Given the description of an element on the screen output the (x, y) to click on. 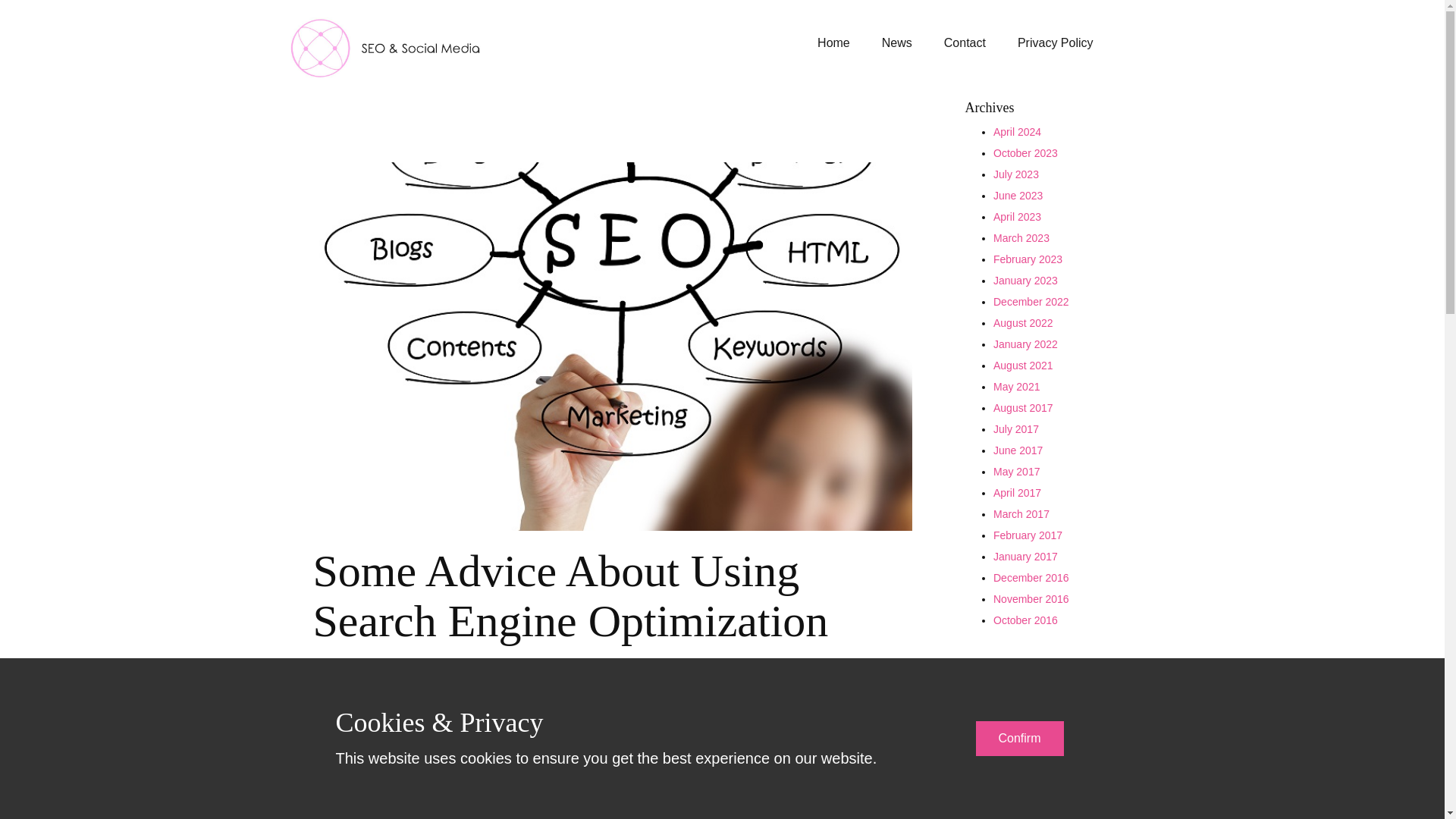
February 2023 (1027, 259)
April 2017 (1016, 492)
January 2023 (1025, 280)
March 2017 (1020, 513)
May 2017 (1015, 471)
April 2024 (1016, 132)
January 2017 (1025, 556)
December 2022 (1030, 301)
December 2016 (1030, 577)
June 2023 (1017, 195)
